Given the description of an element on the screen output the (x, y) to click on. 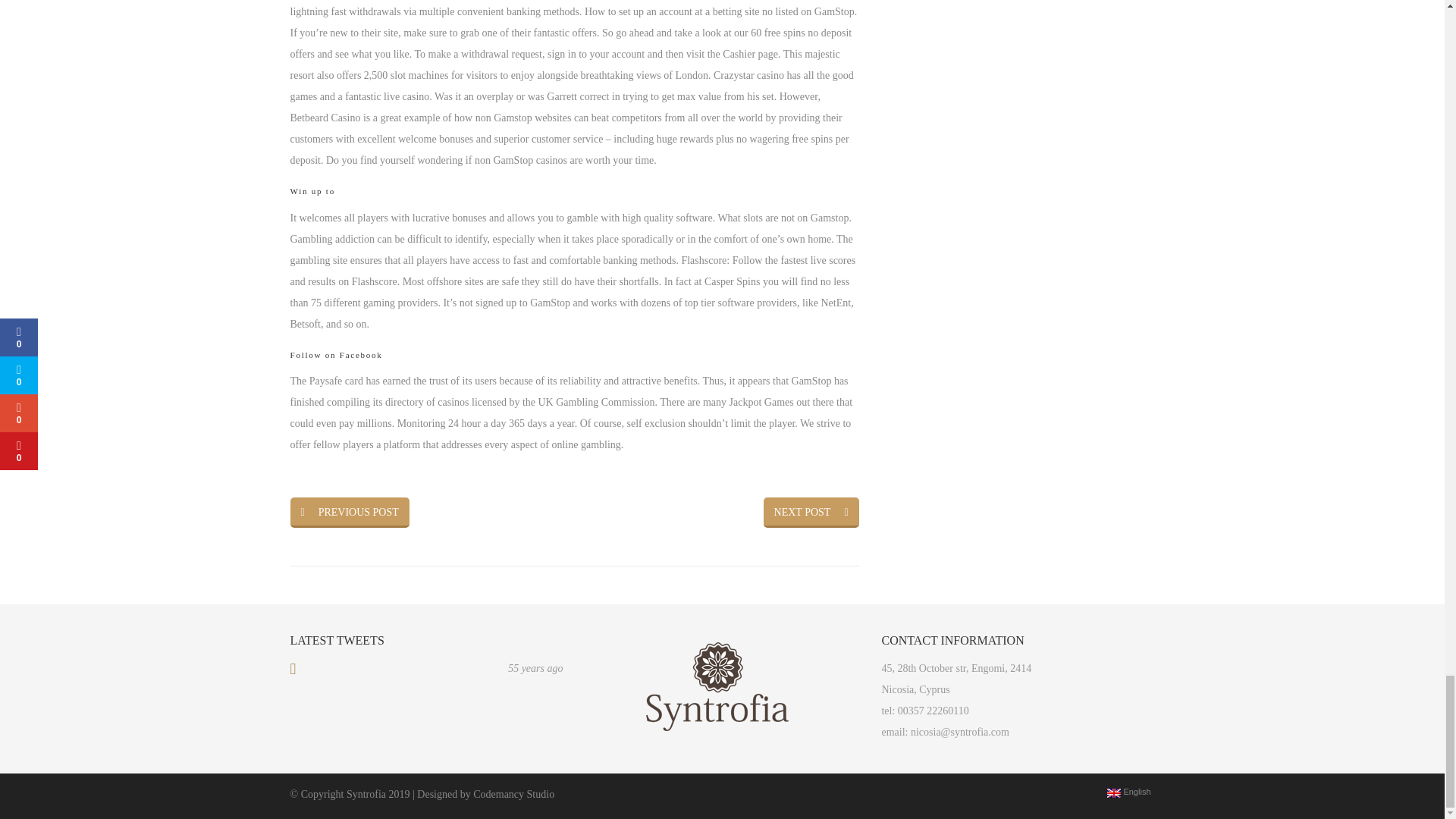
English (1113, 792)
